Given the description of an element on the screen output the (x, y) to click on. 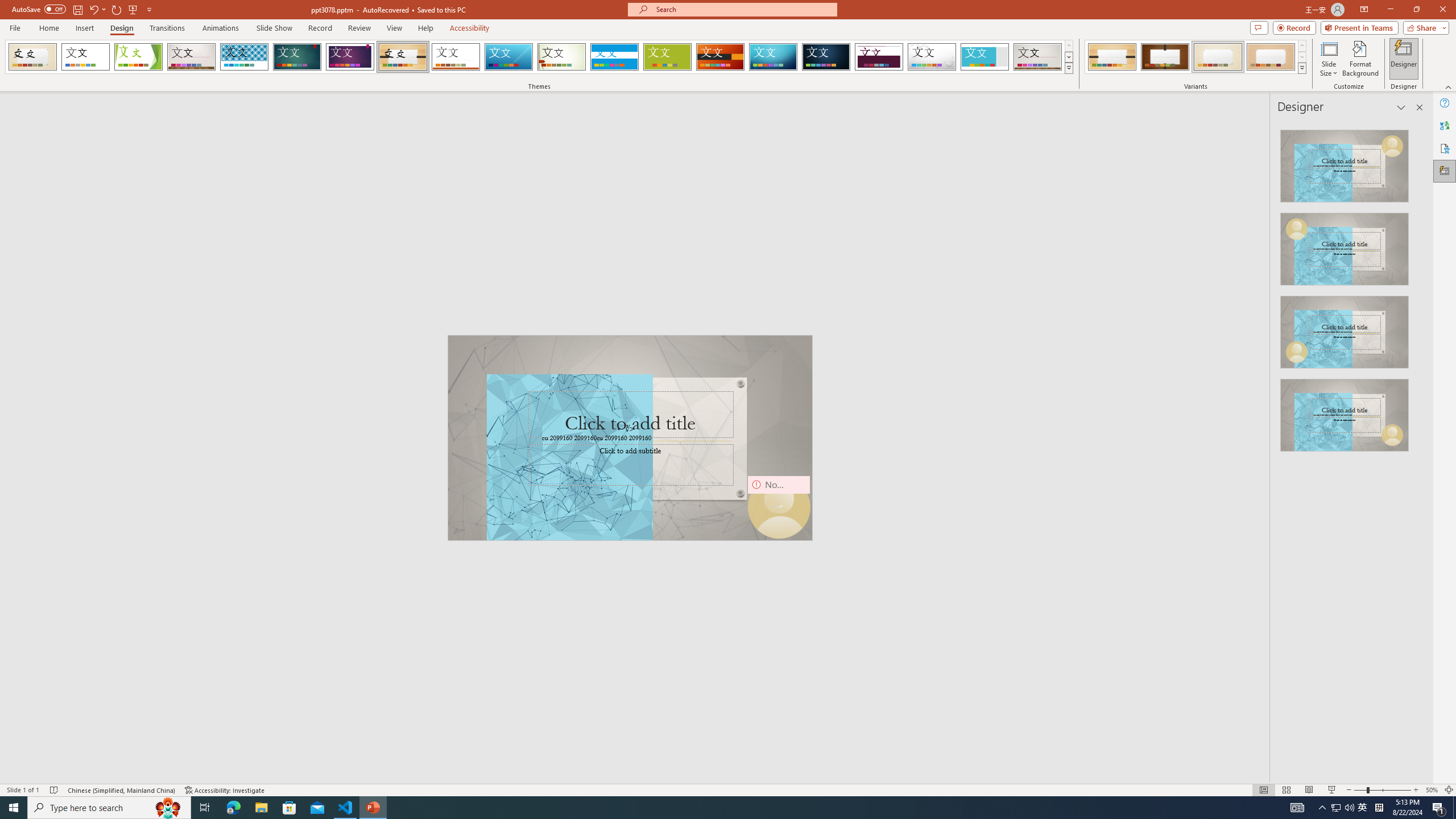
Recommended Design: Design Idea (1344, 162)
Organic Variant 2 (1164, 56)
Title TextBox (630, 414)
Basis (667, 56)
TextBox 61 (628, 438)
Format Background (1360, 58)
